Given the description of an element on the screen output the (x, y) to click on. 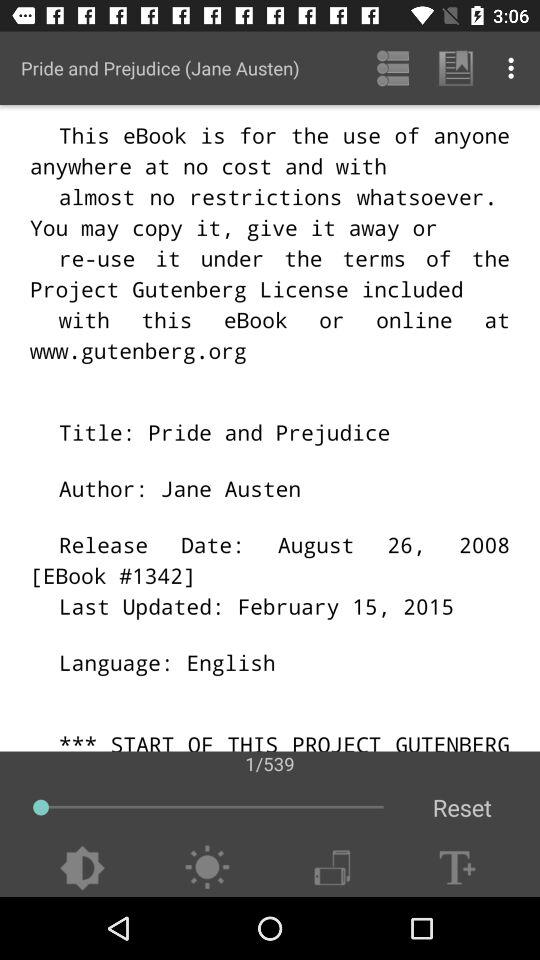
select item at the bottom left corner (81, 867)
